Given the description of an element on the screen output the (x, y) to click on. 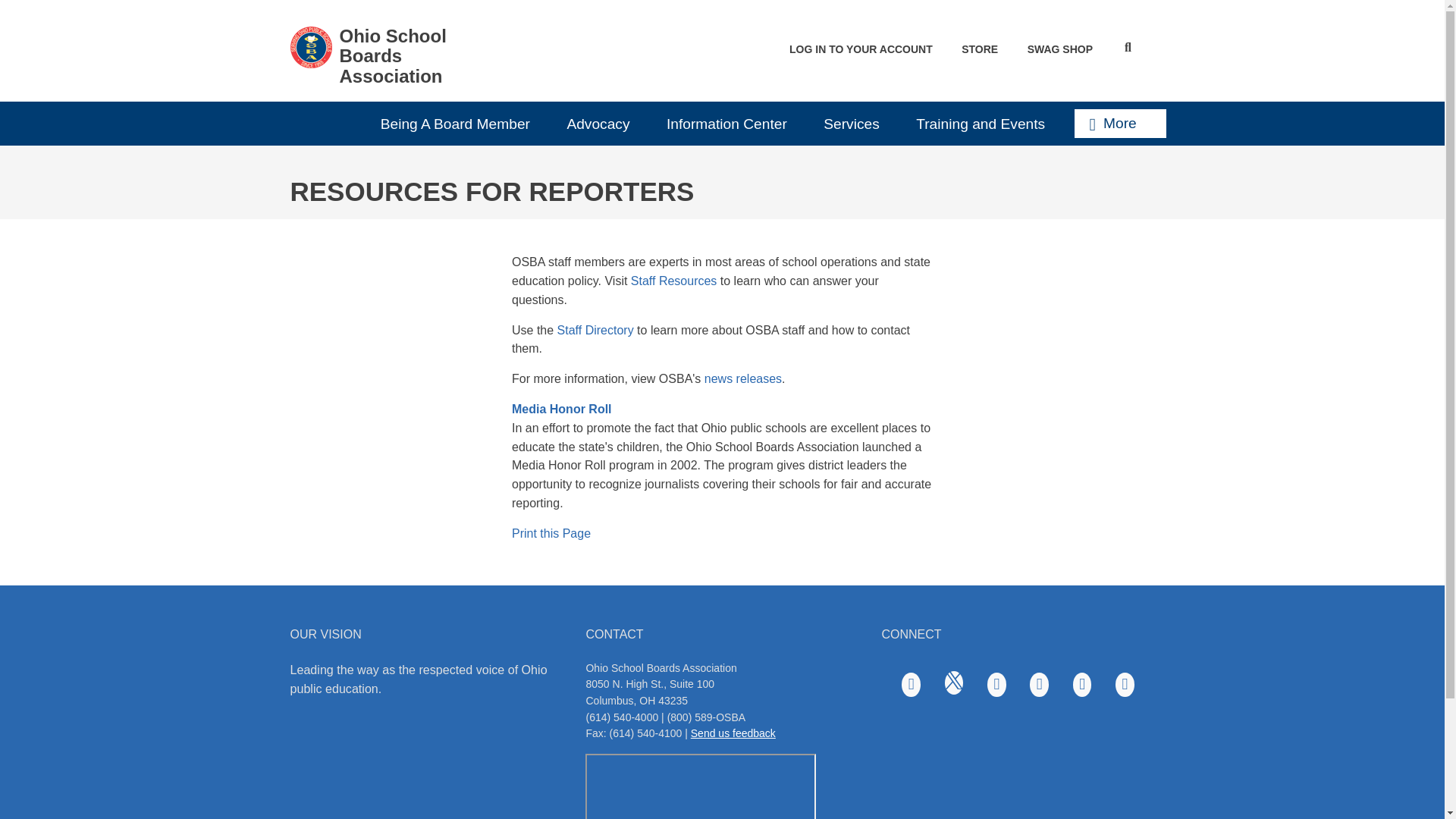
Ohio School Boards Association (393, 56)
Services (858, 123)
STORE (979, 50)
Being A Board Member (461, 123)
Information Center (733, 123)
Issues and Advocacy (605, 123)
Being A Board Member (461, 123)
Home (310, 46)
Advocacy (605, 123)
LOG IN TO YOUR ACCOUNT (861, 50)
